Given the description of an element on the screen output the (x, y) to click on. 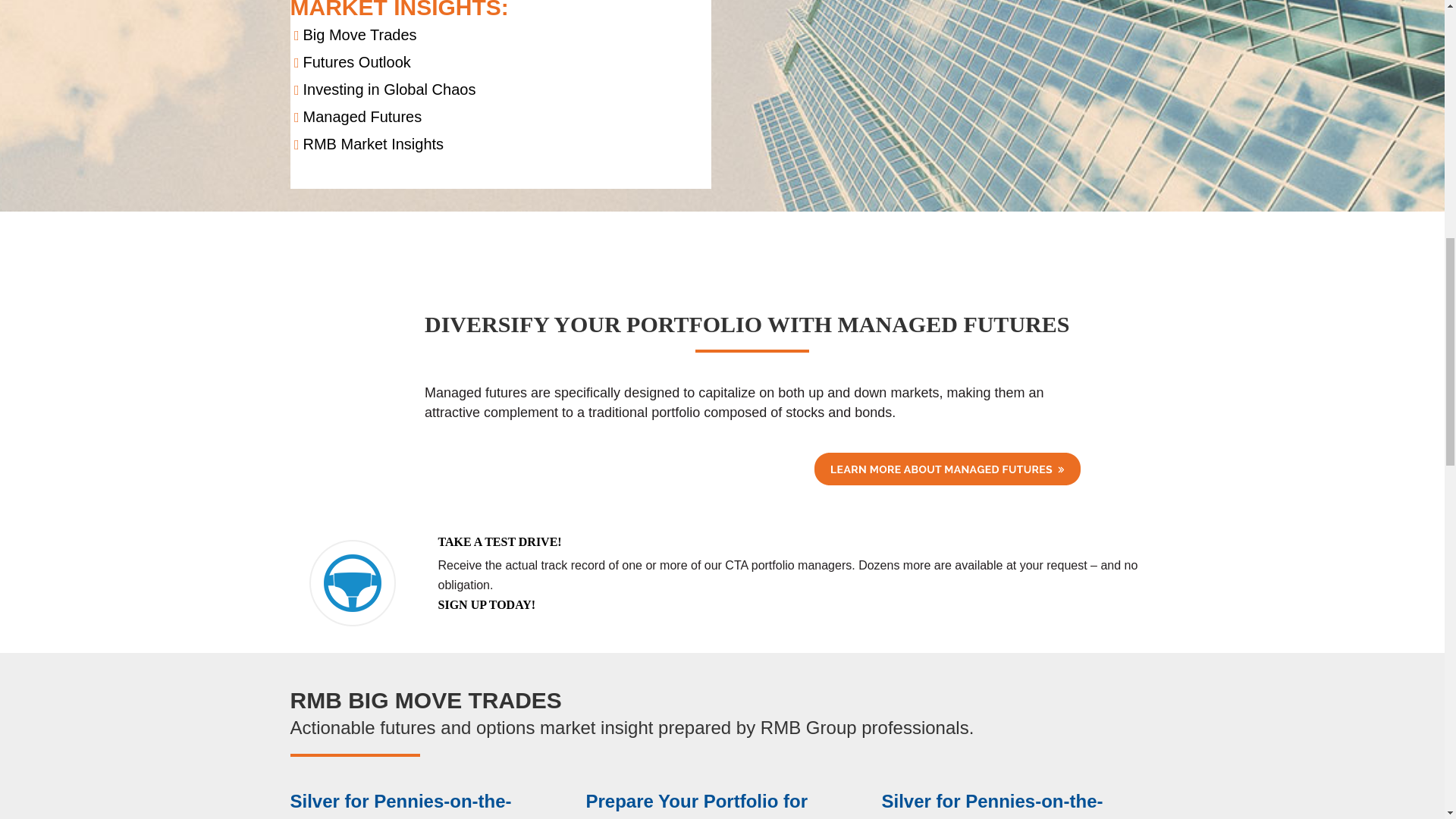
Managed Futures (362, 116)
Big Move Trades (359, 34)
TAKE A TEST DRIVE! (500, 541)
RMB Market Insights (373, 143)
Futures Outlook (356, 62)
Investing in Global Chaos (389, 89)
Prepare Your Portfolio for Volatility (696, 805)
SIGN UP TODAY! (486, 604)
Silver for Pennies-on-the-Dollar (991, 805)
